Given the description of an element on the screen output the (x, y) to click on. 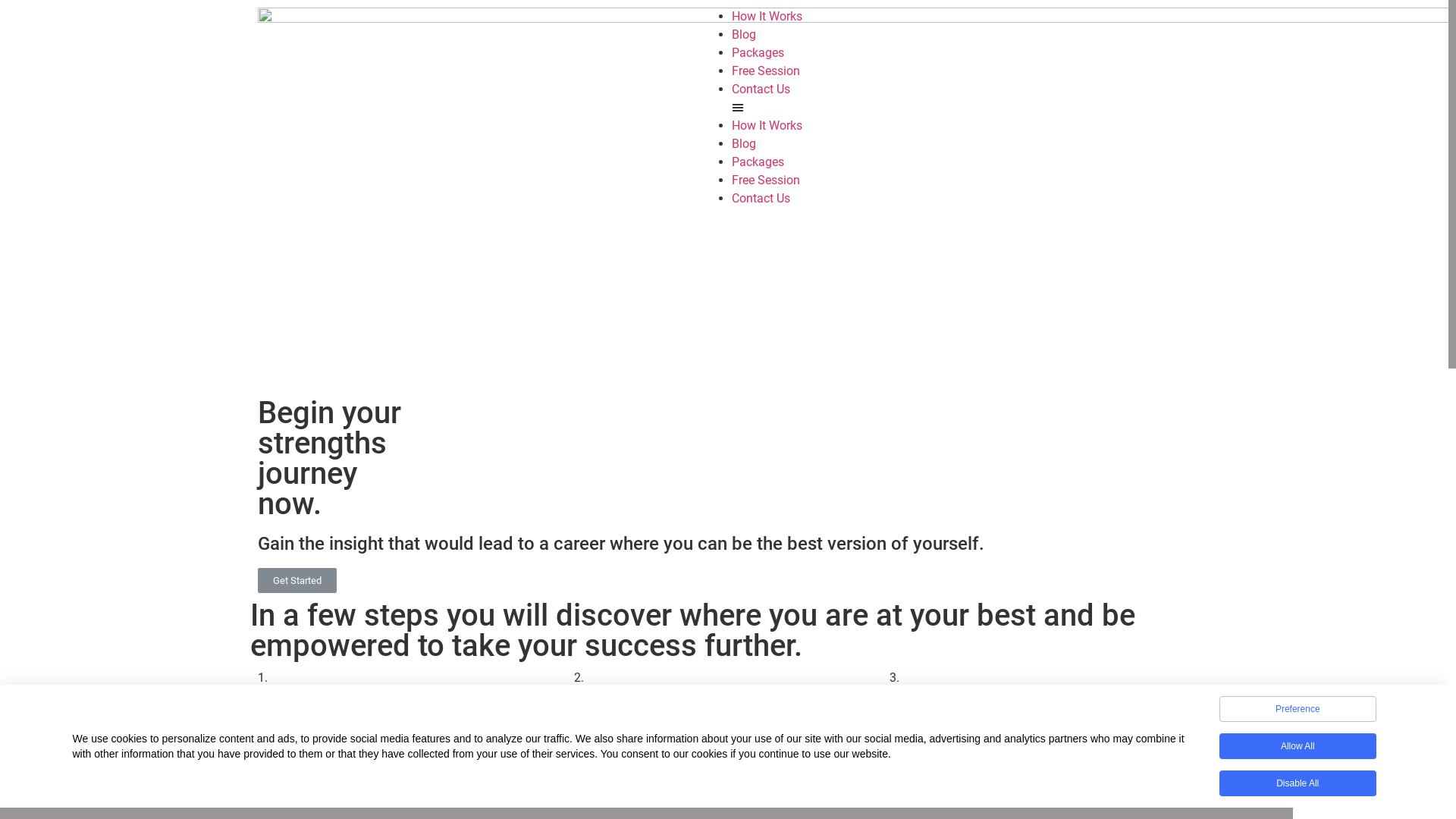
How It Works Element type: text (766, 16)
Packages Element type: text (757, 52)
Free Session Element type: text (765, 179)
Preference Element type: text (1297, 708)
Contact Us Element type: text (760, 198)
Disable All Element type: text (1297, 783)
Blog Element type: text (743, 143)
Contact Us Element type: text (760, 88)
Blog Element type: text (743, 34)
Packages Element type: text (757, 161)
How It Works Element type: text (766, 125)
Free Session Element type: text (765, 70)
Allow All Element type: text (1297, 746)
Get Started Element type: text (296, 580)
